Given the description of an element on the screen output the (x, y) to click on. 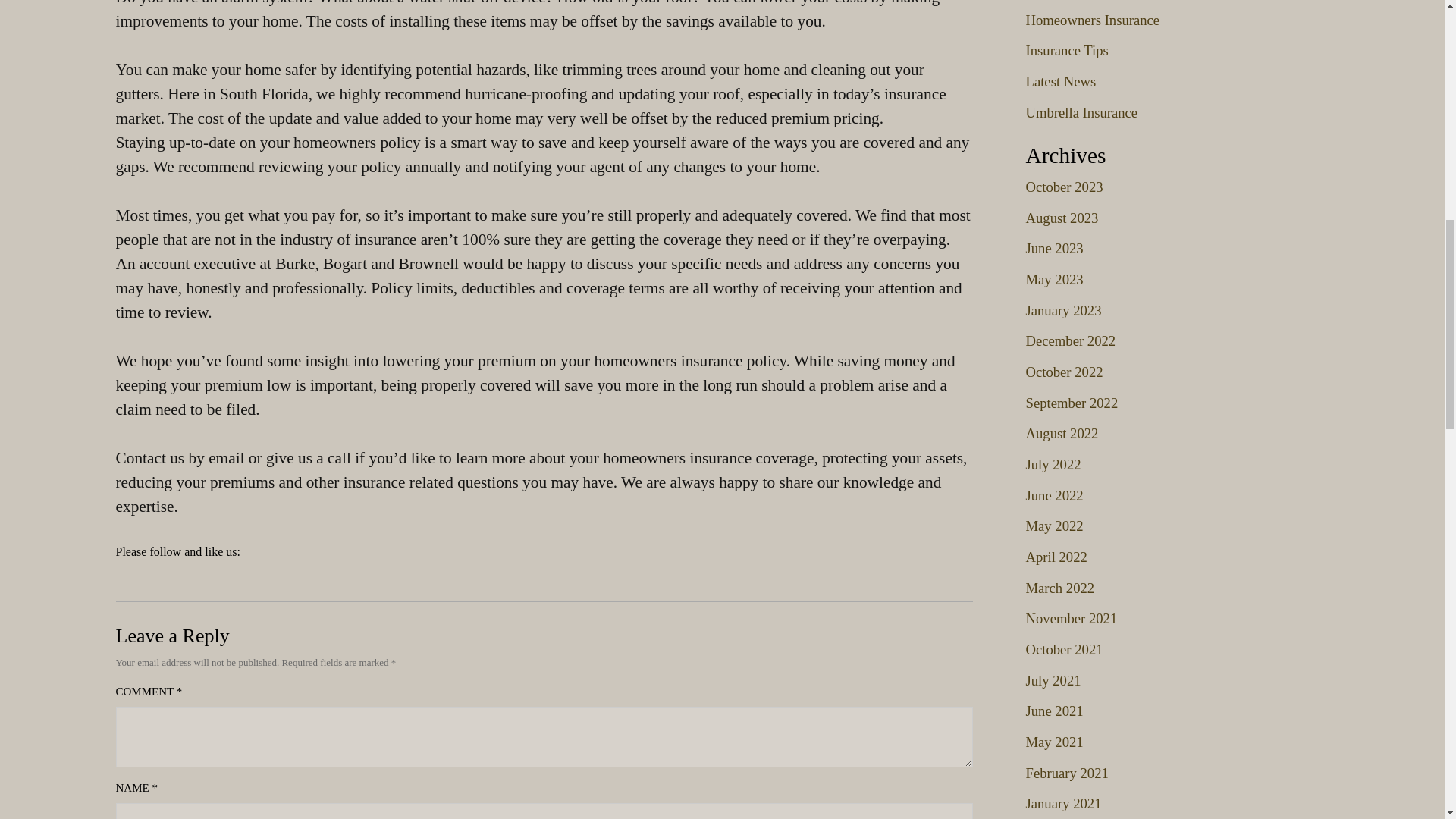
October 2023 (1063, 186)
June 2023 (1054, 248)
Insurance Tips (1066, 50)
August 2023 (1061, 217)
Homeowners Insurance (1091, 19)
Latest News (1060, 81)
Umbrella Insurance (1081, 112)
